Given the description of an element on the screen output the (x, y) to click on. 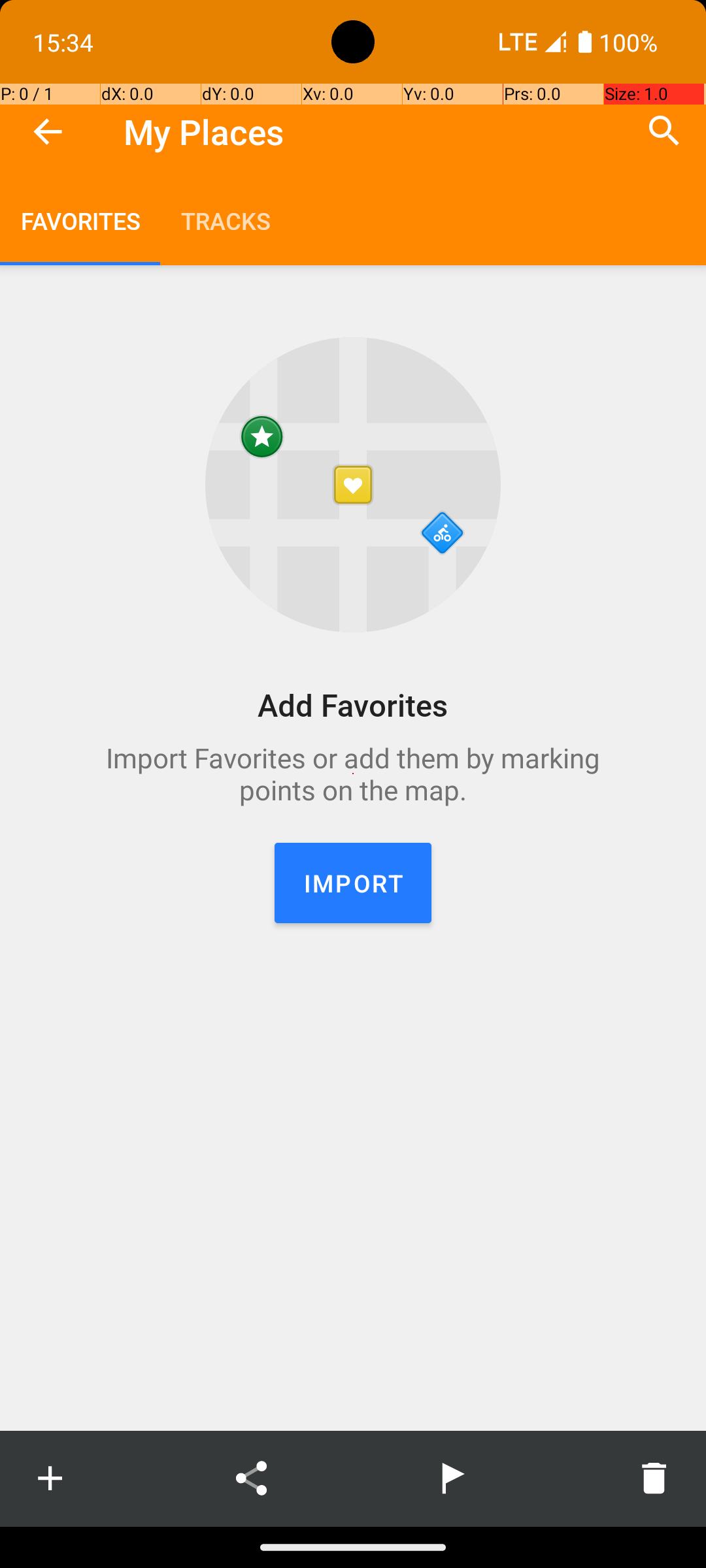
My Places Element type: android.widget.TextView (203, 131)
Add to 'Favorites' Element type: android.widget.Button (50, 1478)
Select map markers Element type: android.widget.Button (452, 1478)
FAVORITES Element type: android.widget.TextView (80, 220)
Add Favorites Element type: android.widget.TextView (352, 704)
Import Favorites or add them by marking points on the map. Element type: android.widget.TextView (352, 773)
IMPORT Element type: android.widget.Button (352, 882)
